Given the description of an element on the screen output the (x, y) to click on. 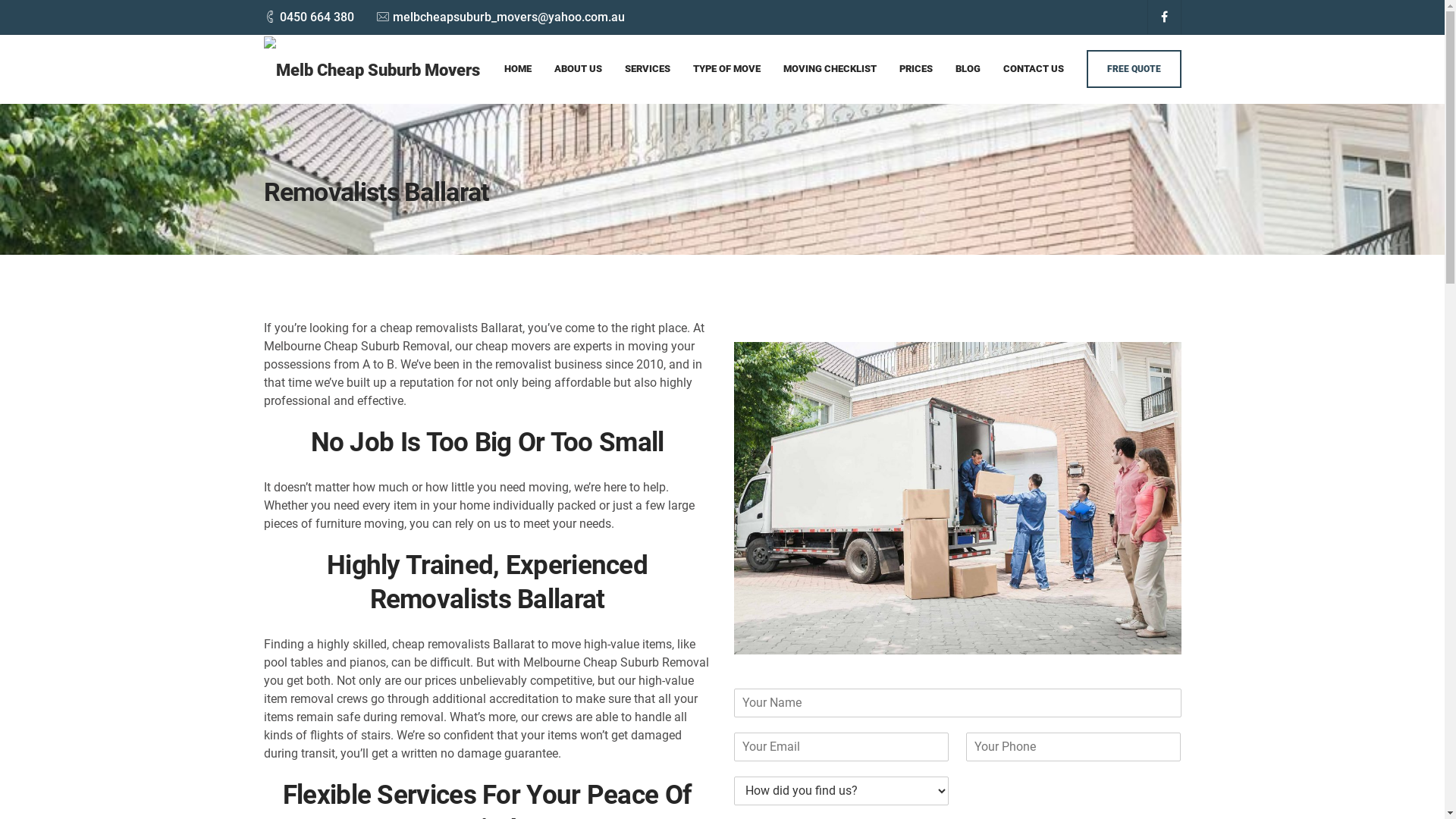
Removalists Hoppers Crossing Element type: text (691, 537)
Removalist Point Cook Element type: text (669, 561)
0450 664 380 Element type: text (420, 339)
melbcheapsuburb_movers@yahoo.com.au Element type: text (906, 348)
MOVING CHECKLIST Element type: text (828, 67)
Sitemap Element type: text (281, 790)
HOME Element type: text (516, 67)
0450 664 380 Element type: text (316, 16)
BLOG Element type: text (967, 67)
Corporate Removals Element type: text (977, 537)
Removalist Sunbury Element type: text (662, 609)
Pool Table Removals Element type: text (979, 609)
melbcheapsuburb_movers@yahoo.com.au Element type: text (508, 16)
Melton Removalists Element type: text (661, 585)
TYPE OF MOVE Element type: text (726, 67)
Removalists Dandenong Element type: text (674, 512)
FREE QUOTE Element type: text (1132, 68)
Piano Removals Element type: text (966, 585)
Furniture Removals Element type: text (975, 561)
PRICES Element type: text (915, 67)
Home Removals Element type: text (966, 512)
CONTACT US Element type: text (1032, 67)
ABOUT US Element type: text (577, 67)
Removalists Werribee Element type: text (668, 634)
SERVICES Element type: text (647, 67)
